Given the description of an element on the screen output the (x, y) to click on. 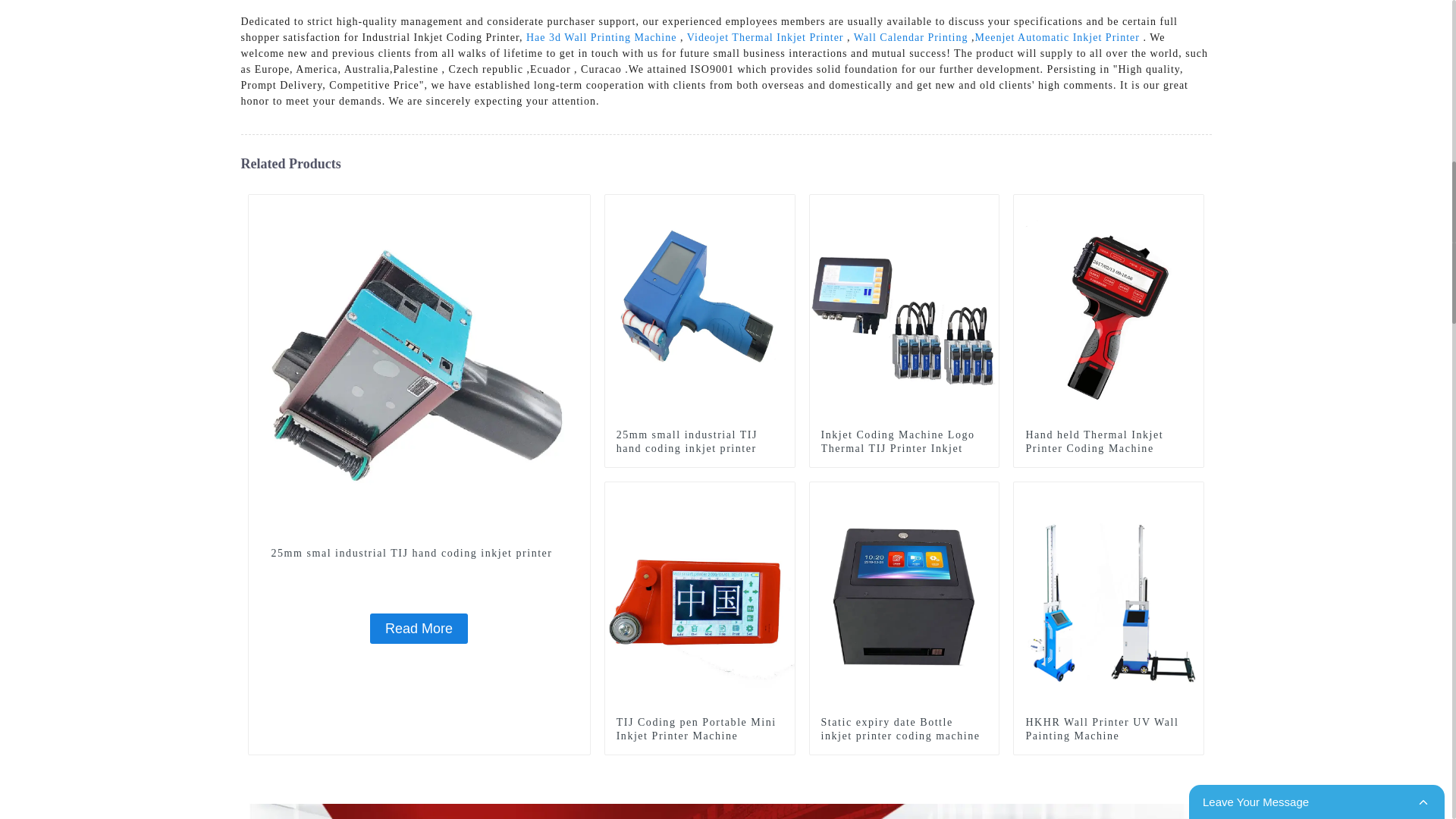
Hae 3d Wall Printing Machine (601, 37)
25mm smal industrial TIJ hand coding inkjet printer (418, 553)
Videojet Thermal Inkjet Printer (765, 37)
TIJ Coding pen Portable Mini Inkjet Printer Machine (699, 728)
Meenjet Automatic Inkjet Printer (1057, 37)
33 (782, 493)
Read More (418, 628)
111 (578, 205)
Wall Calendar Printing (910, 37)
